Given the description of an element on the screen output the (x, y) to click on. 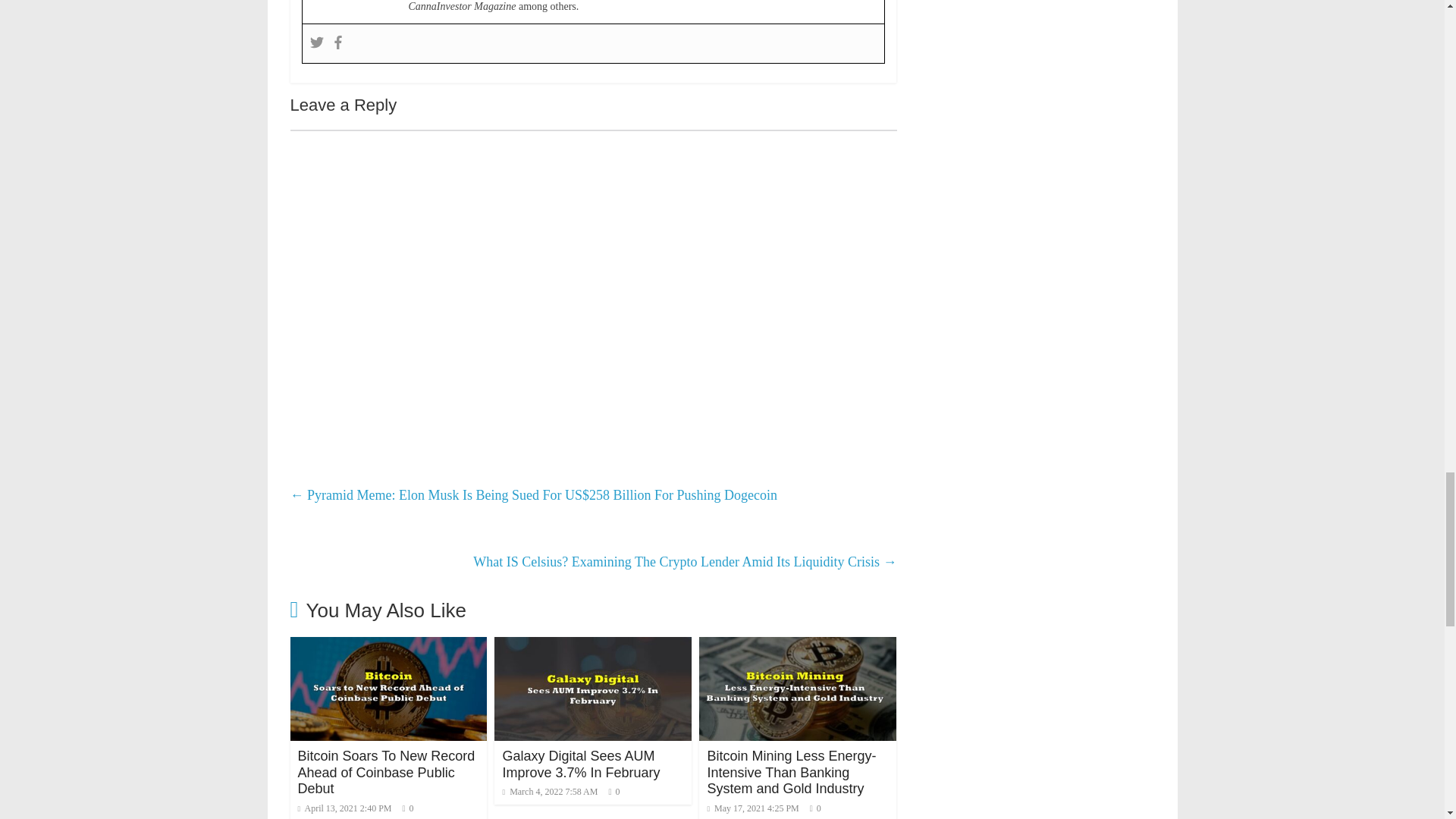
2:40 pm (344, 808)
Bitcoin Soars To New Record Ahead of Coinbase Public Debut (387, 645)
Bitcoin Soars To New Record Ahead of Coinbase Public Debut (385, 772)
